Given the description of an element on the screen output the (x, y) to click on. 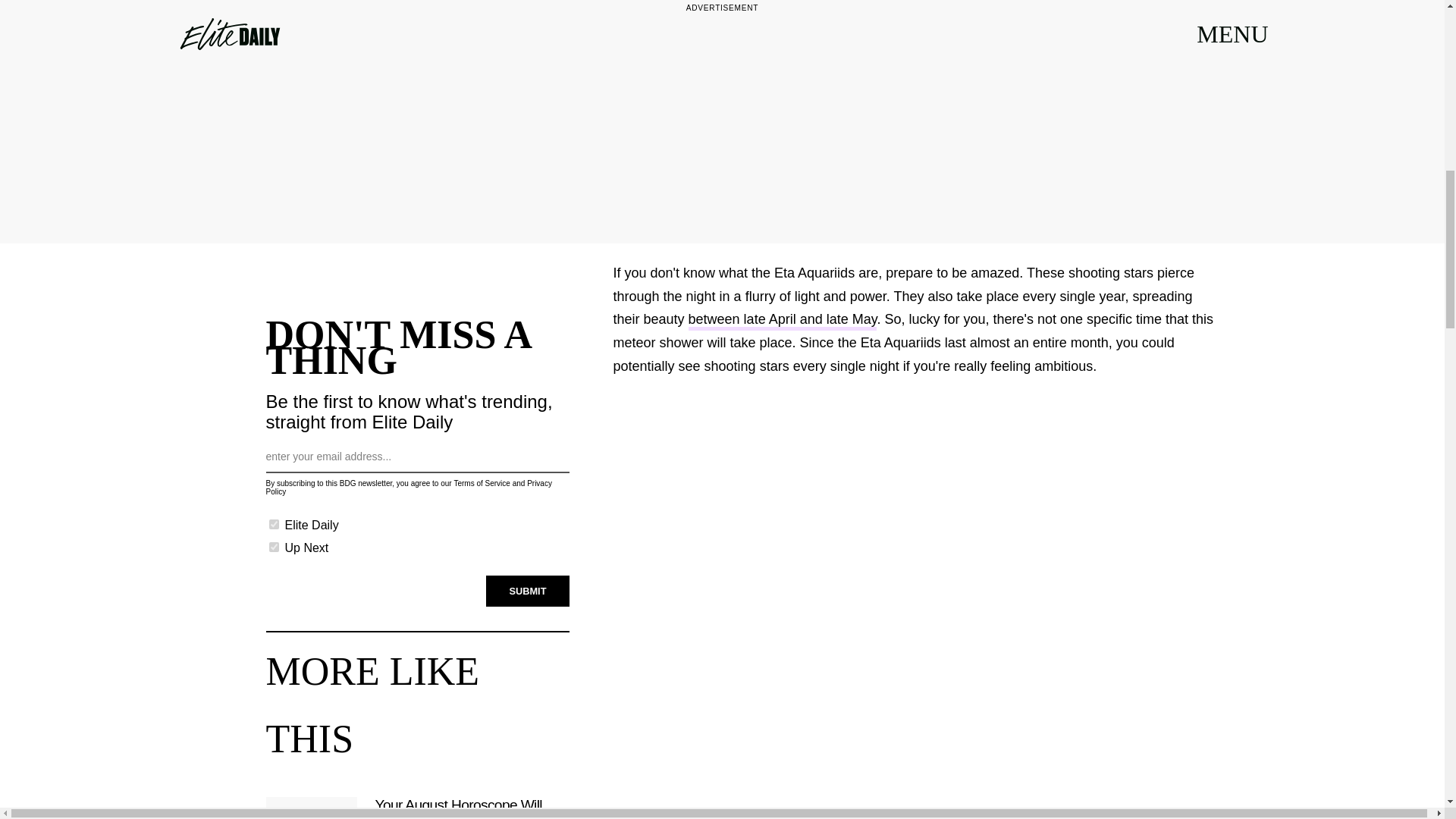
Terms of Service (480, 483)
between late April and late May (782, 321)
SUBMIT (527, 591)
Privacy Policy (407, 487)
